Given the description of an element on the screen output the (x, y) to click on. 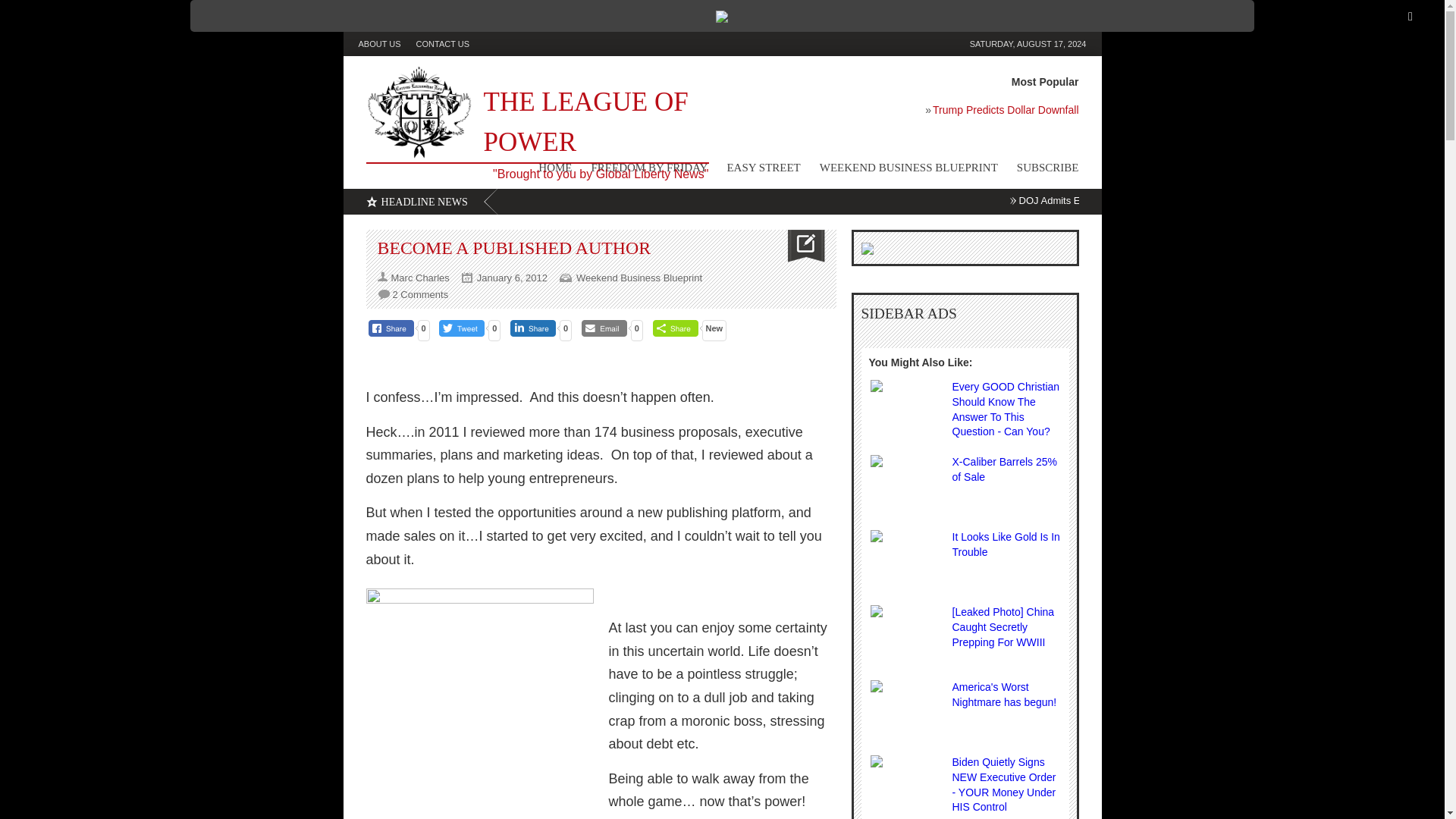
SUBSCRIBE (1037, 170)
HOME (545, 170)
Trump Predicts Dollar Downfall (846, 113)
EASY STREET (753, 170)
ABOUT US (386, 43)
WEEKEND BUSINESS BLUEPRINT (898, 170)
CONTACT US (450, 43)
FREEDOM BY FRIDAY (639, 170)
Weekend Business Blueprint (638, 277)
2 Comments (420, 294)
